Given the description of an element on the screen output the (x, y) to click on. 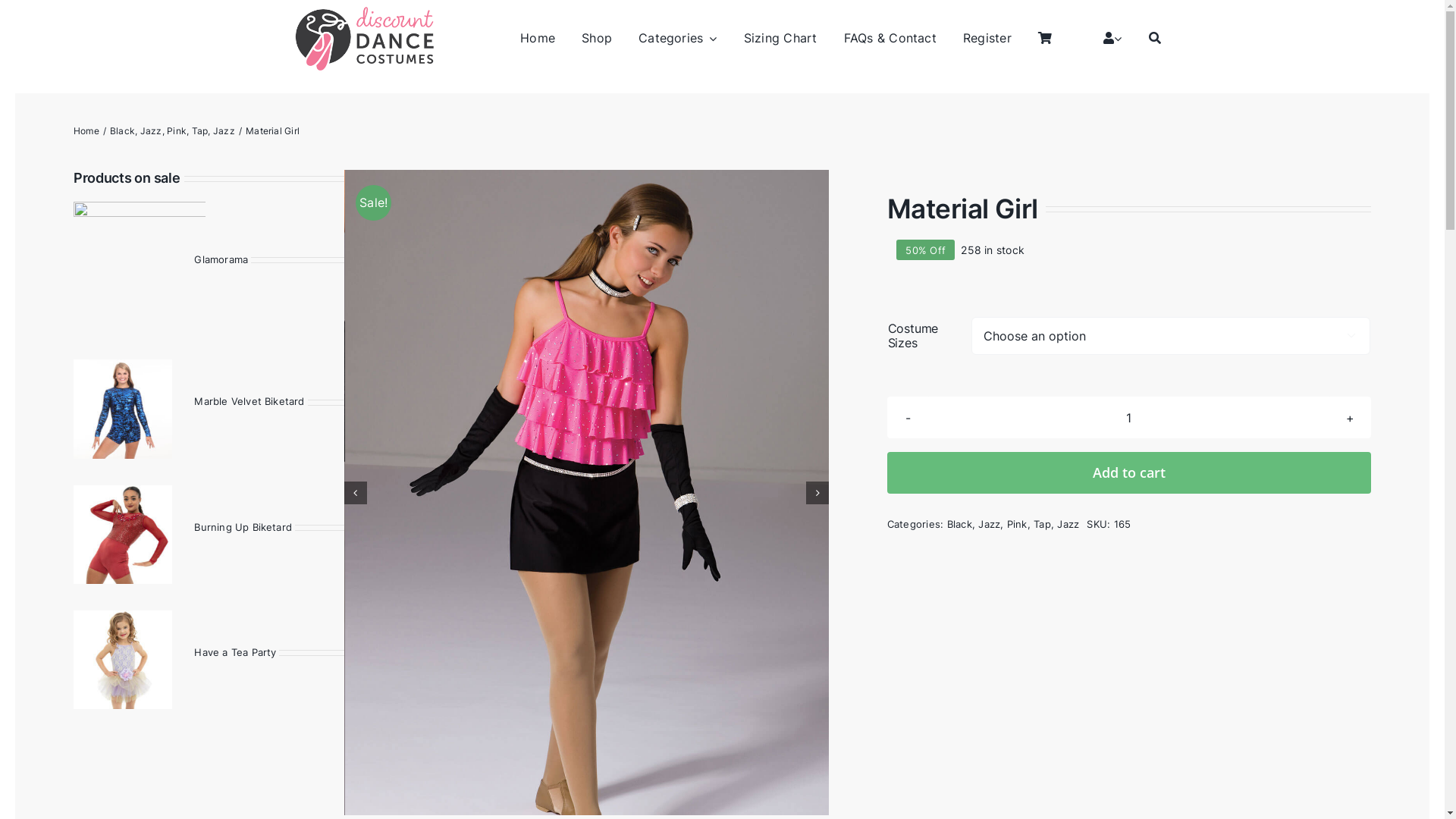
Add to cart Element type: text (1129, 472)
Tap Element type: text (199, 130)
Qty Element type: hover (1128, 417)
Pink Element type: text (176, 130)
Jazz Element type: text (151, 130)
Burning Up Biketard 1 Element type: hover (122, 534)
Marble Velvet Biketard 7 Element type: hover (122, 408)
Home Element type: text (537, 39)
Pink Element type: text (1017, 523)
Sizing Chart Element type: text (780, 39)
Black Element type: text (959, 523)
Home Element type: text (86, 130)
Tap Element type: text (1042, 523)
Jazz Element type: text (989, 523)
Categories Element type: text (677, 39)
Glamorama 1 Element type: hover (139, 267)
Shop Element type: text (596, 39)
Black Element type: text (121, 130)
attachment-1 Element type: hover (122, 659)
Jazz Element type: text (224, 130)
Register Element type: text (987, 39)
Jazz Element type: text (1068, 523)
Search Element type: hover (1154, 39)
FAQs & Contact Element type: text (890, 39)
